Given the description of an element on the screen output the (x, y) to click on. 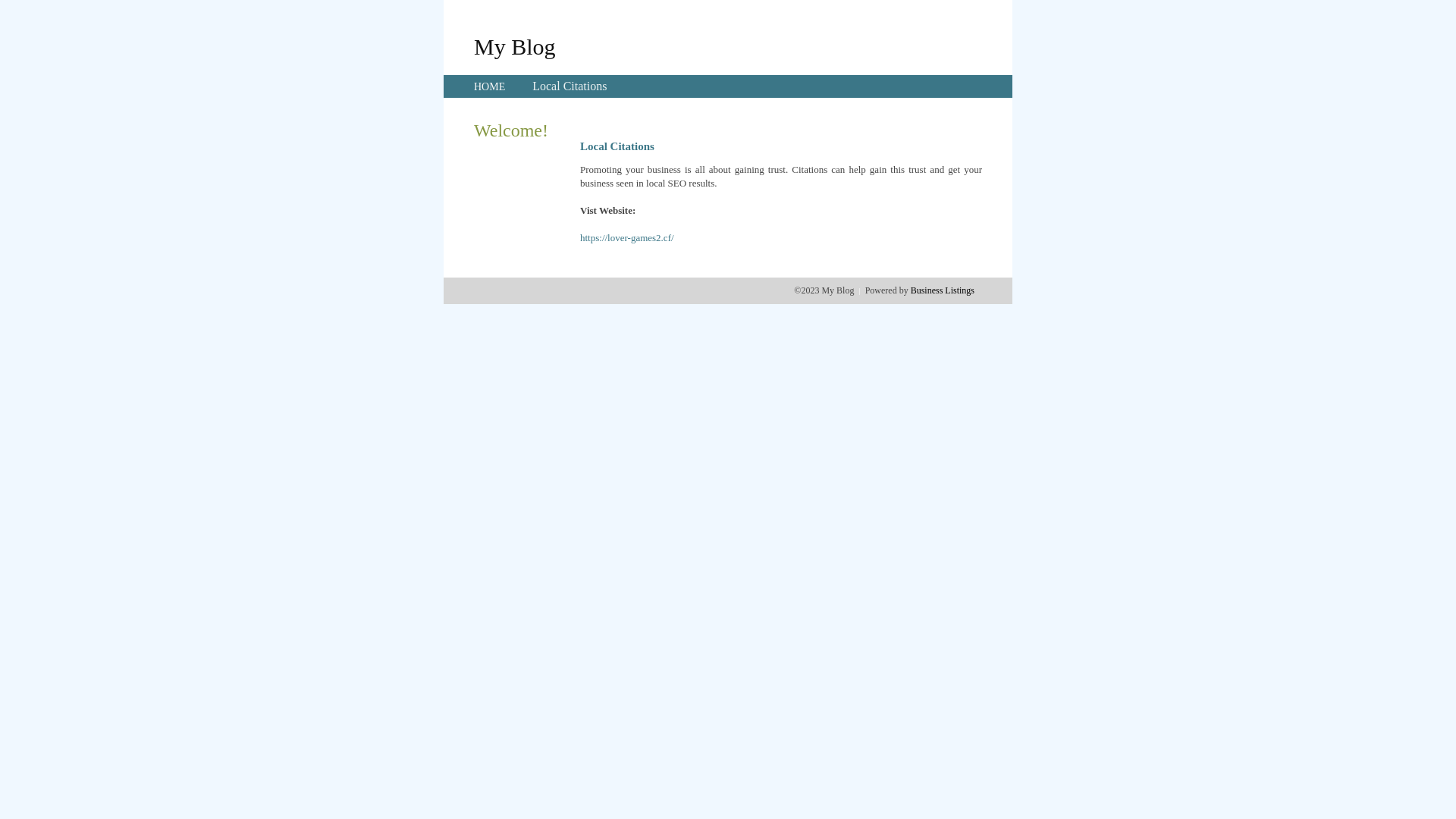
https://lover-games2.cf/ Element type: text (627, 237)
HOME Element type: text (489, 86)
Local Citations Element type: text (569, 85)
Business Listings Element type: text (942, 290)
My Blog Element type: text (514, 46)
